Given the description of an element on the screen output the (x, y) to click on. 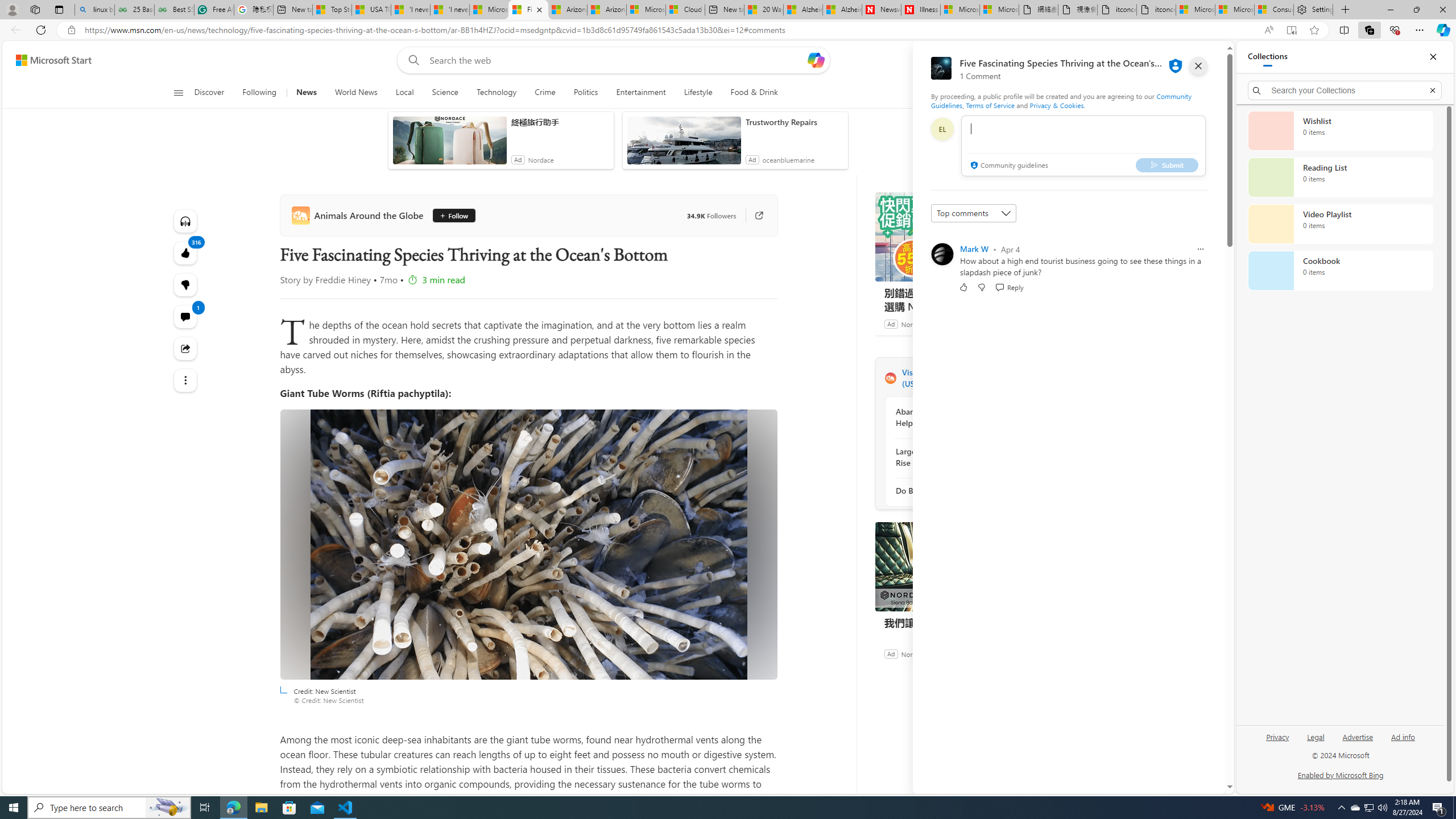
Top Stories - MSN (331, 9)
oceanbluemarine (787, 159)
Class: button-glyph (178, 92)
Animals Around The Globe (US) (889, 378)
World News (355, 92)
25 Basic Linux Commands For Beginners - GeeksforGeeks (133, 9)
Animals Around the Globe (359, 215)
Report comment (1200, 249)
Listen to this article (184, 220)
Legal (1315, 736)
Local (403, 92)
Reading List collection, 0 items (1339, 177)
